Given the description of an element on the screen output the (x, y) to click on. 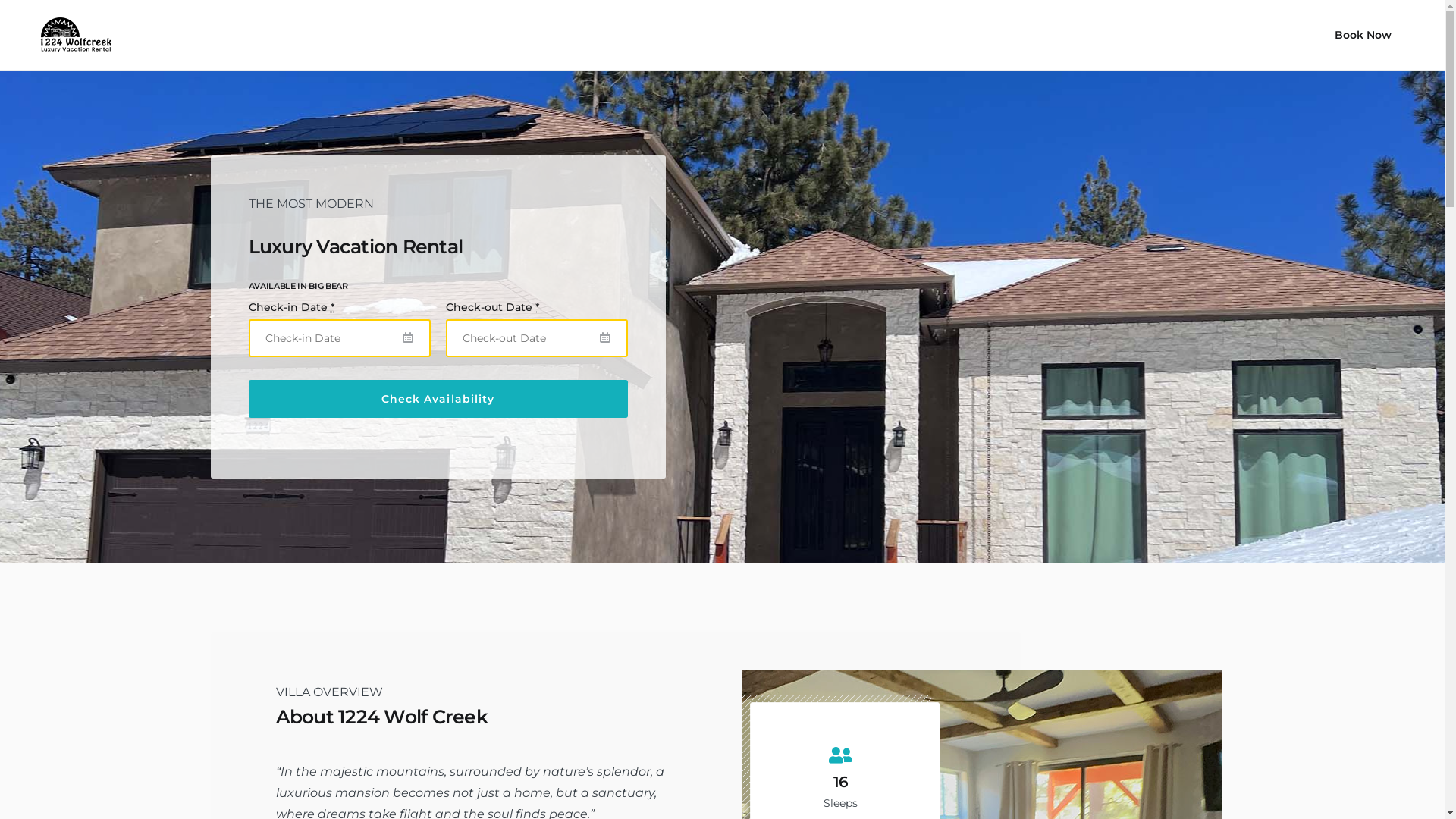
Book Now Element type: text (1362, 34)
Check Availability Element type: text (437, 398)
1224 Wolf Creek Element type: text (70, 34)
